Given the description of an element on the screen output the (x, y) to click on. 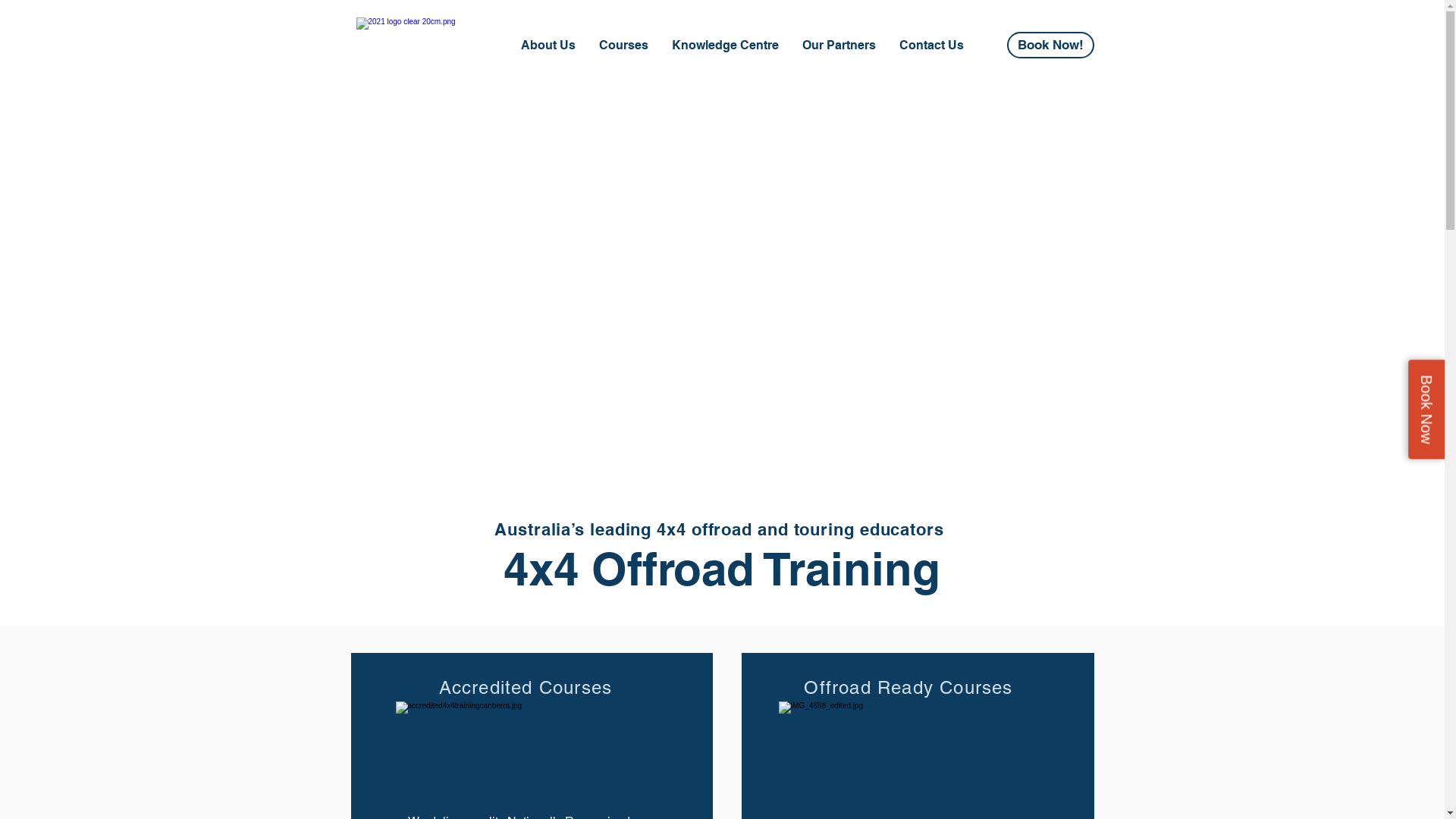
Our Partners Element type: text (838, 45)
Contact Us Element type: text (931, 45)
Courses Element type: text (622, 45)
Knowledge Centre Element type: text (724, 45)
About Us Element type: text (547, 45)
Book Now! Element type: text (1050, 44)
